Given the description of an element on the screen output the (x, y) to click on. 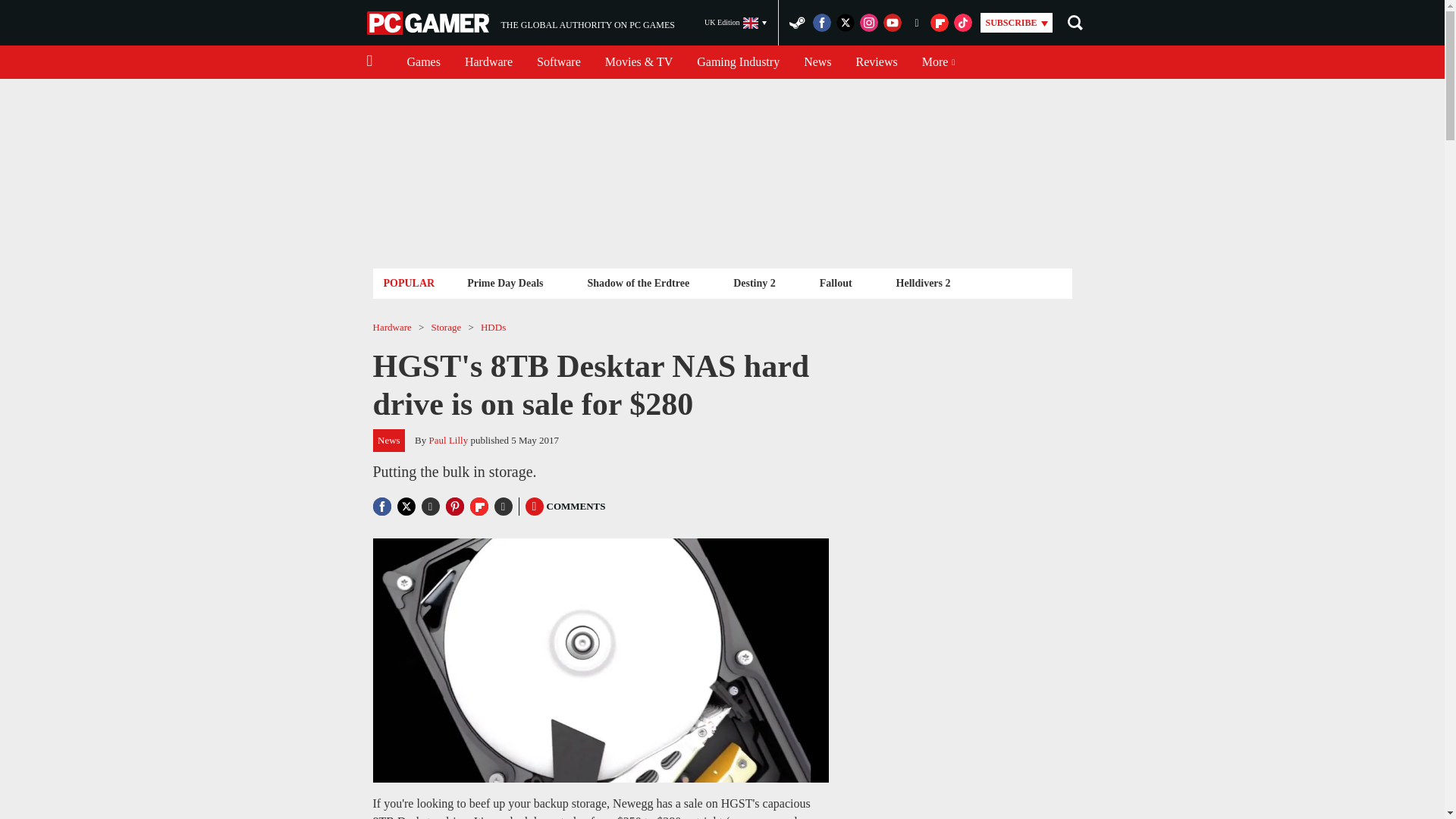
Software (558, 61)
News (817, 61)
Games (422, 61)
Prime Day Deals (504, 282)
Hardware (488, 61)
Shadow of the Erdtree (637, 282)
Reviews (877, 61)
UK Edition (735, 22)
Gaming Industry (520, 22)
PC Gamer (738, 61)
